Given the description of an element on the screen output the (x, y) to click on. 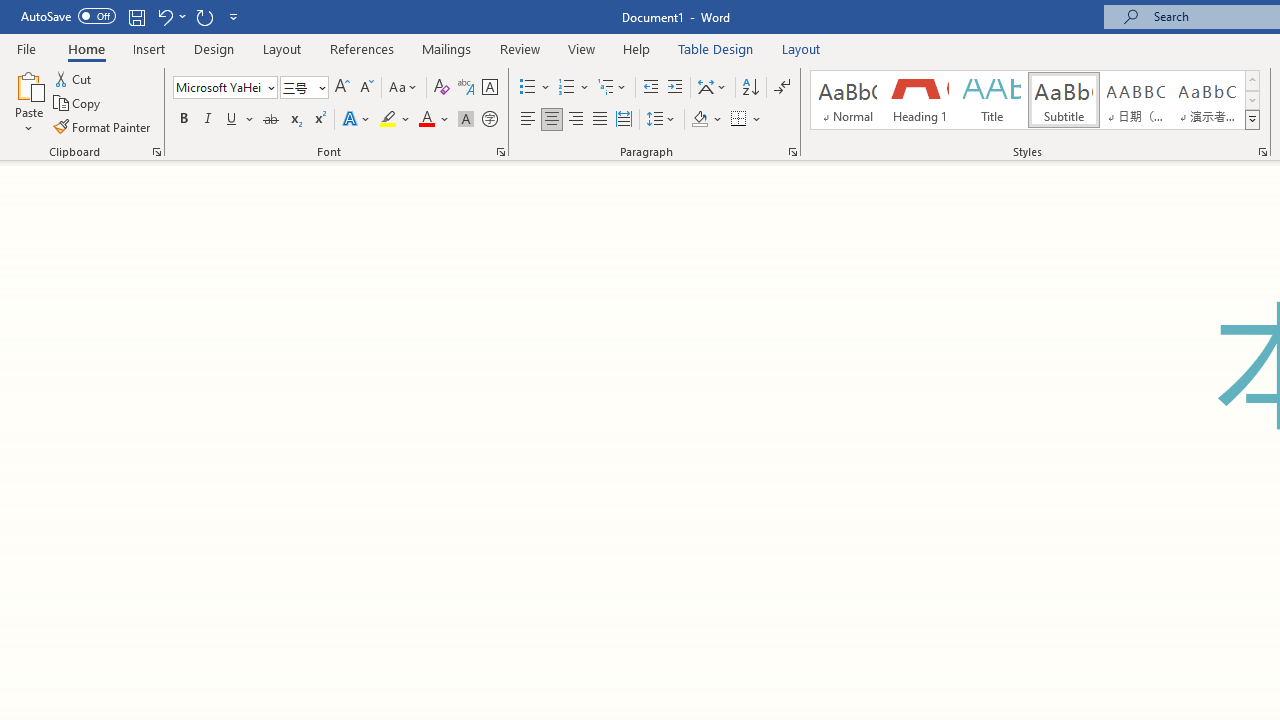
Borders (746, 119)
Styles (1252, 120)
Review (520, 48)
Cut (73, 78)
Superscript (319, 119)
Strikethrough (270, 119)
Shrink Font (365, 87)
Line and Paragraph Spacing (661, 119)
Sort... (750, 87)
Italic (207, 119)
Text Highlight Color (395, 119)
File Tab (26, 48)
Font Size (304, 87)
Save (136, 15)
